Given the description of an element on the screen output the (x, y) to click on. 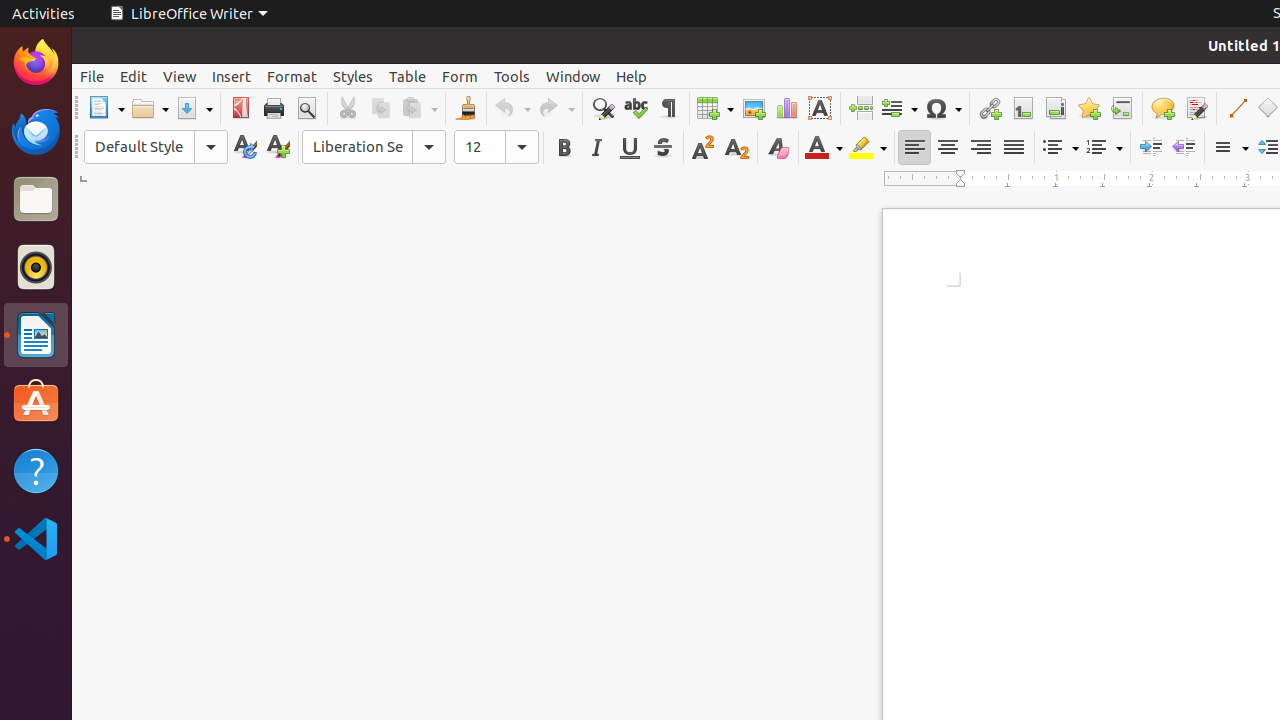
Justified Element type: toggle-button (1013, 147)
Underline Element type: push-button (629, 147)
Print Preview Element type: toggle-button (306, 108)
Table Element type: menu (407, 76)
Clear Element type: push-button (777, 147)
